Given the description of an element on the screen output the (x, y) to click on. 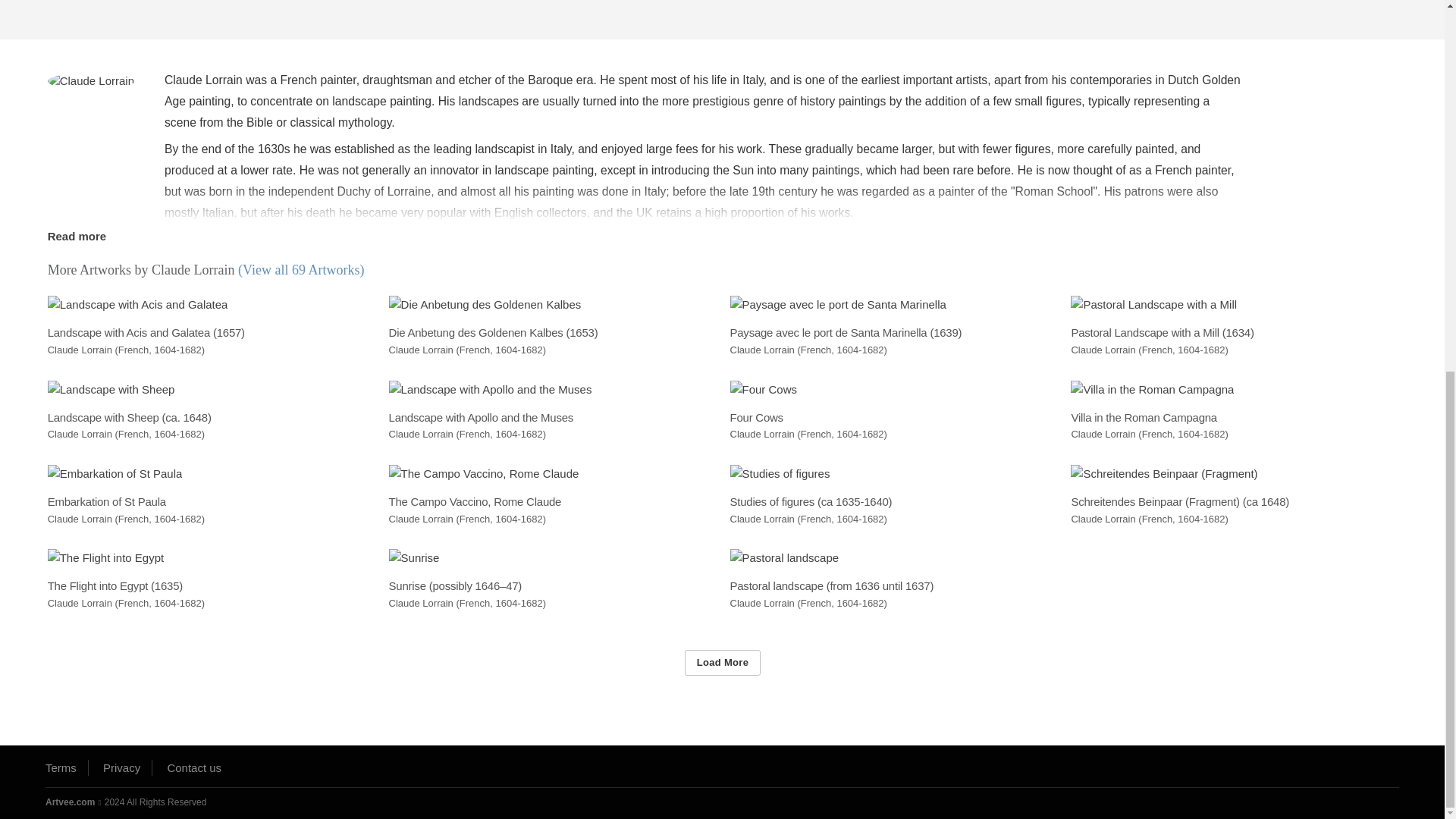
Claude Lorrain (90, 81)
Load More (721, 662)
